Given the description of an element on the screen output the (x, y) to click on. 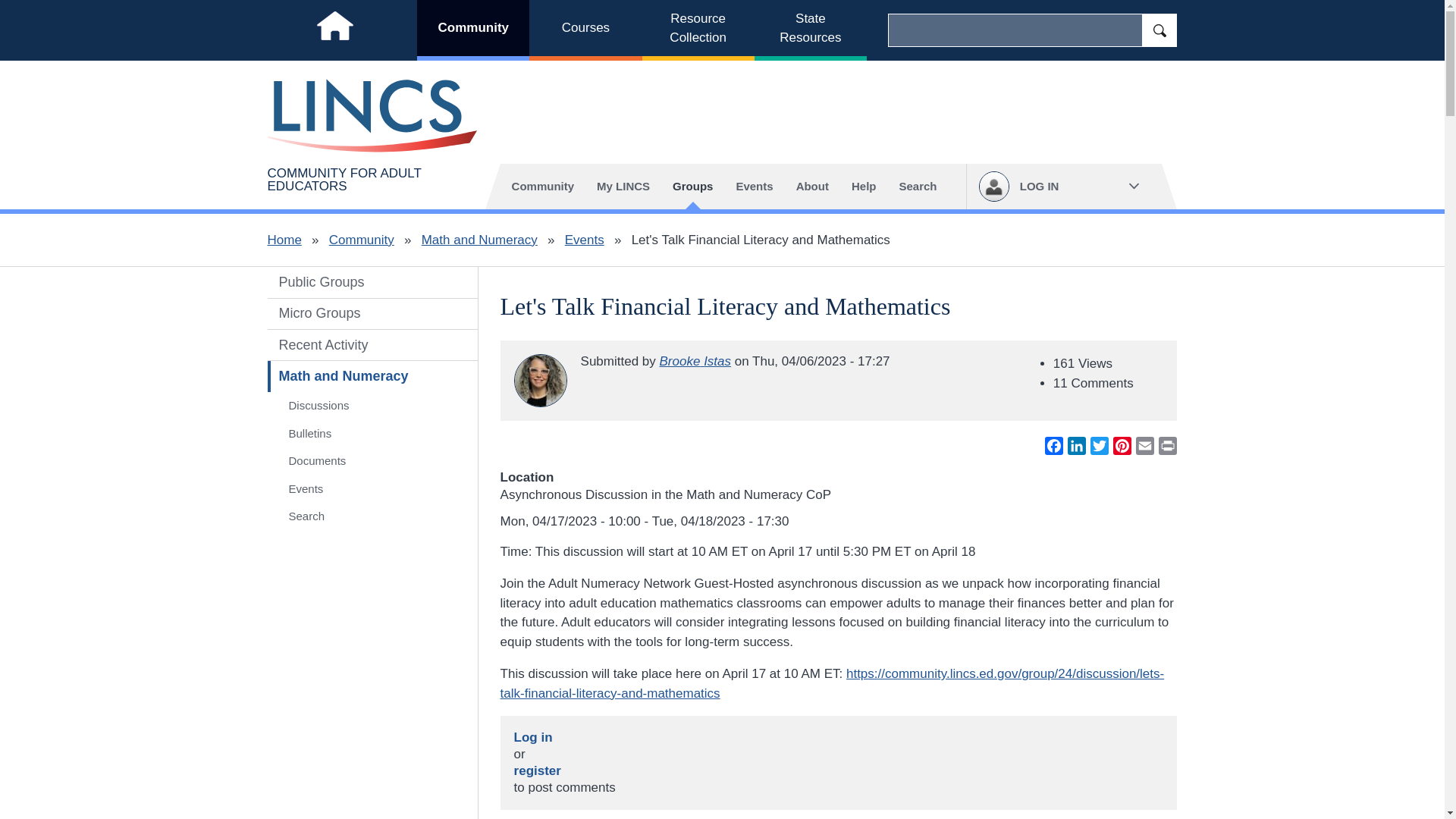
Groups (692, 186)
State Resources (810, 30)
Home (283, 239)
LINCS Community Home Page (372, 114)
LINCS Home (333, 30)
Enter the terms you wish to search for. (1015, 29)
Community (472, 30)
Community (361, 239)
Search (916, 186)
About (812, 186)
